Given the description of an element on the screen output the (x, y) to click on. 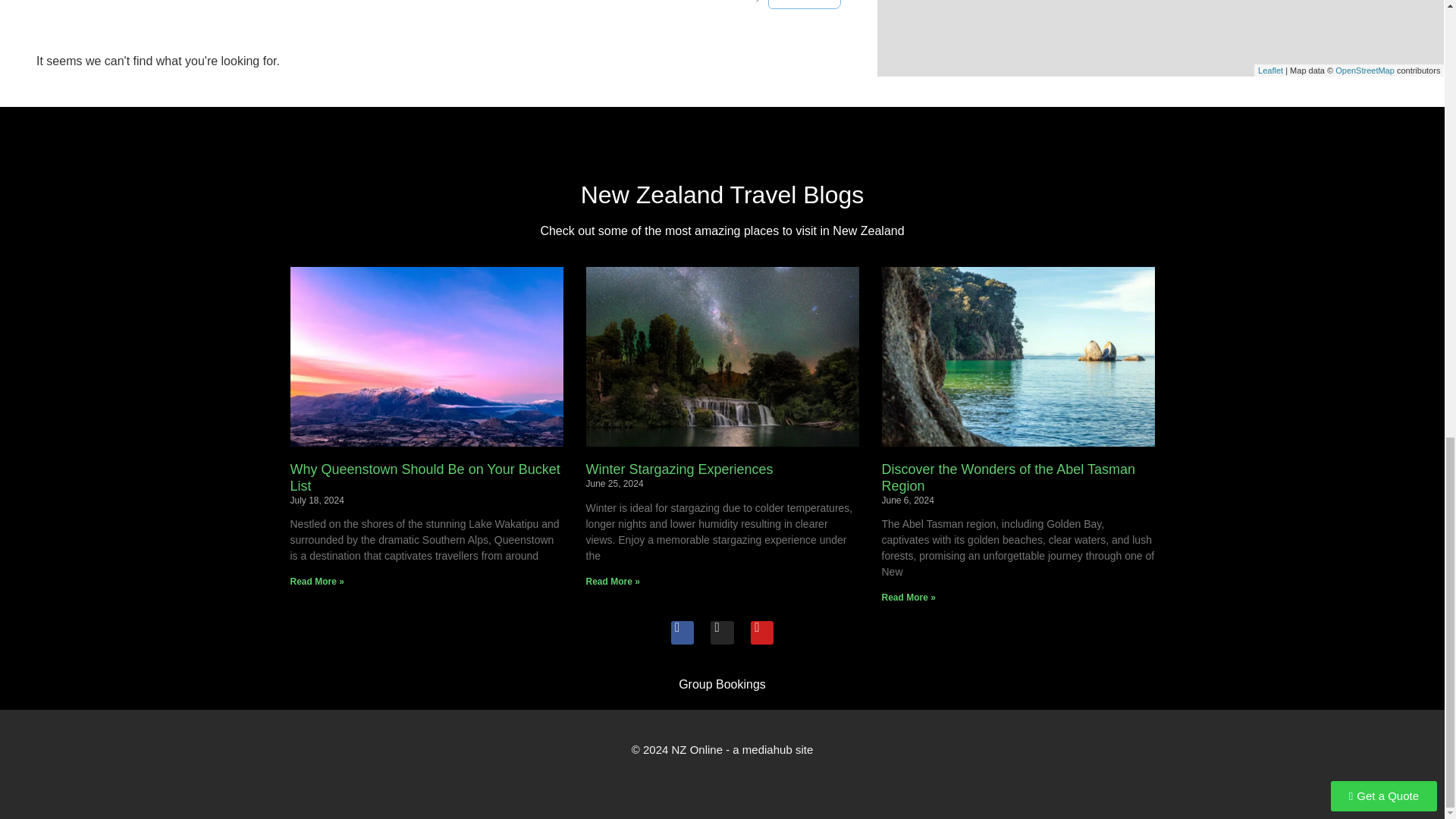
A JS library for interactive maps (1269, 70)
